Given the description of an element on the screen output the (x, y) to click on. 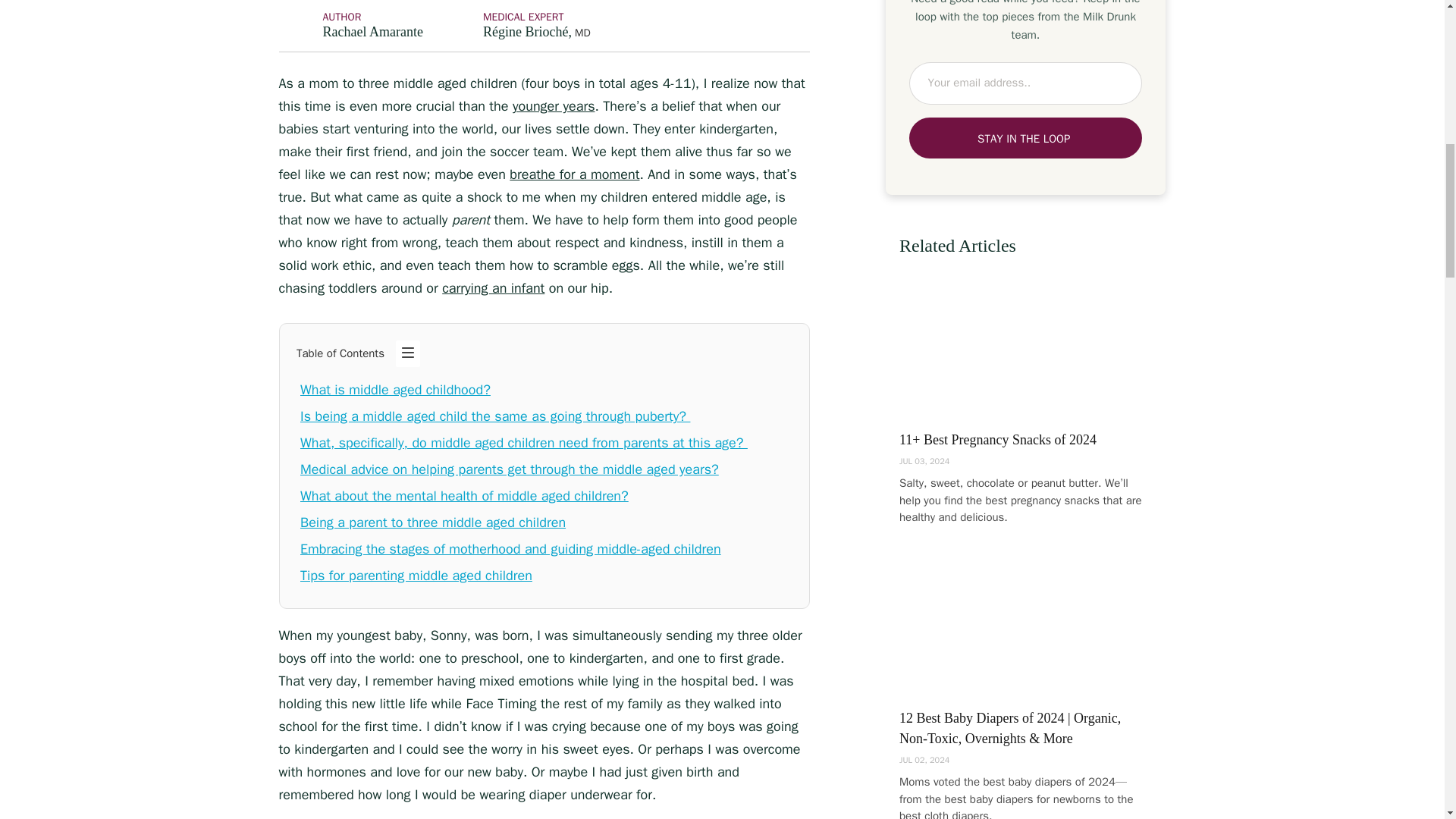
carrying an infant (493, 288)
What about the mental health of middle aged children? (463, 495)
Being a parent to three middle aged children (432, 522)
breathe for a moment (574, 174)
Stay in the loop  (1024, 137)
younger years (553, 105)
What is middle aged childhood? (394, 389)
Tips for parenting middle aged children (415, 575)
